Given the description of an element on the screen output the (x, y) to click on. 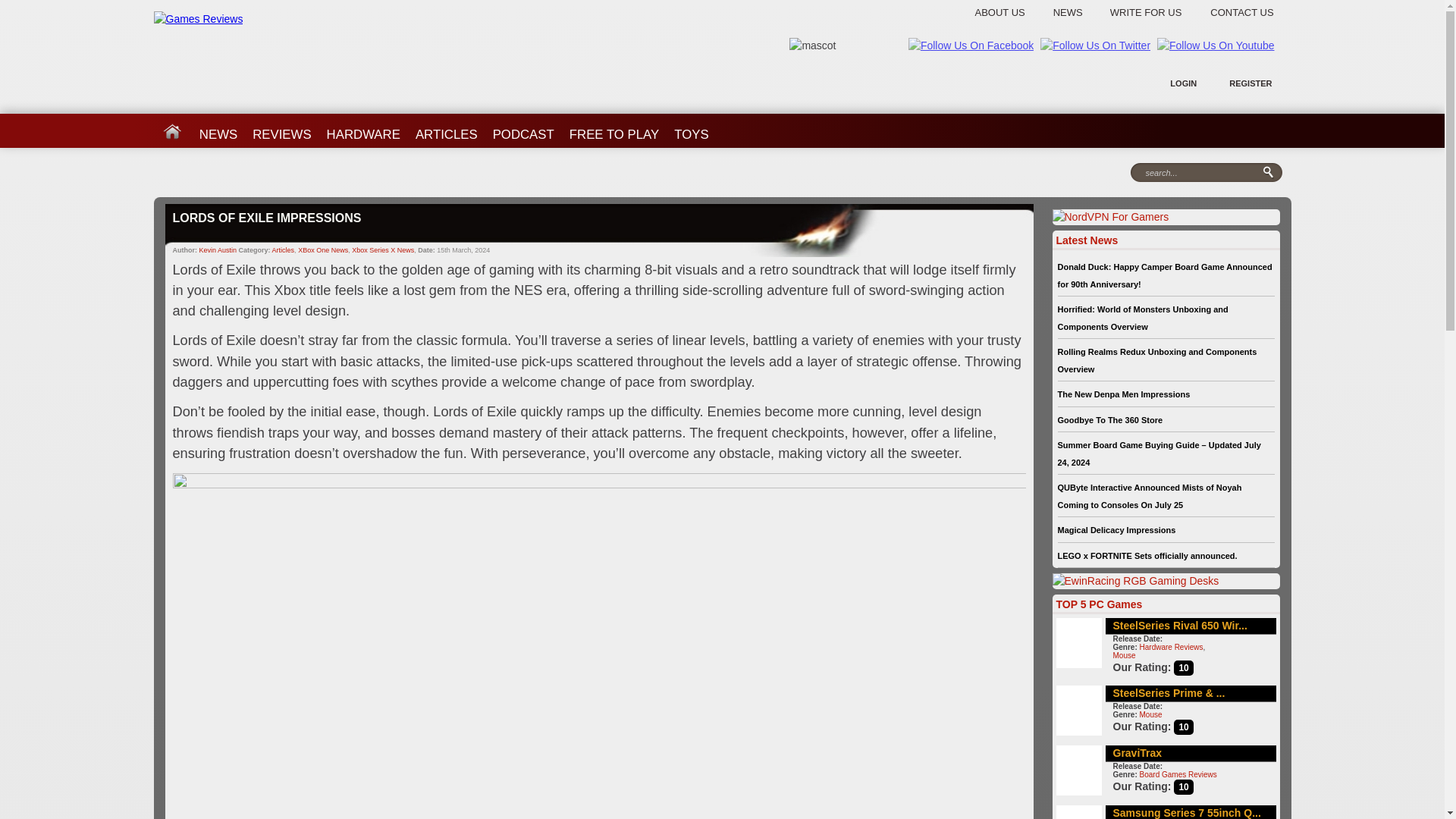
PODCAST (523, 128)
REGISTER (1249, 82)
Games Reviews (197, 19)
ARTICLES (445, 128)
GR Man (812, 45)
SteelSeries Rival 650 Wireless Gaming Mouse Review (1180, 625)
REVIEWS (281, 128)
Follow Us On Twitter (1095, 45)
HOME (171, 128)
Lords of Exile Impressions (599, 230)
